Given the description of an element on the screen output the (x, y) to click on. 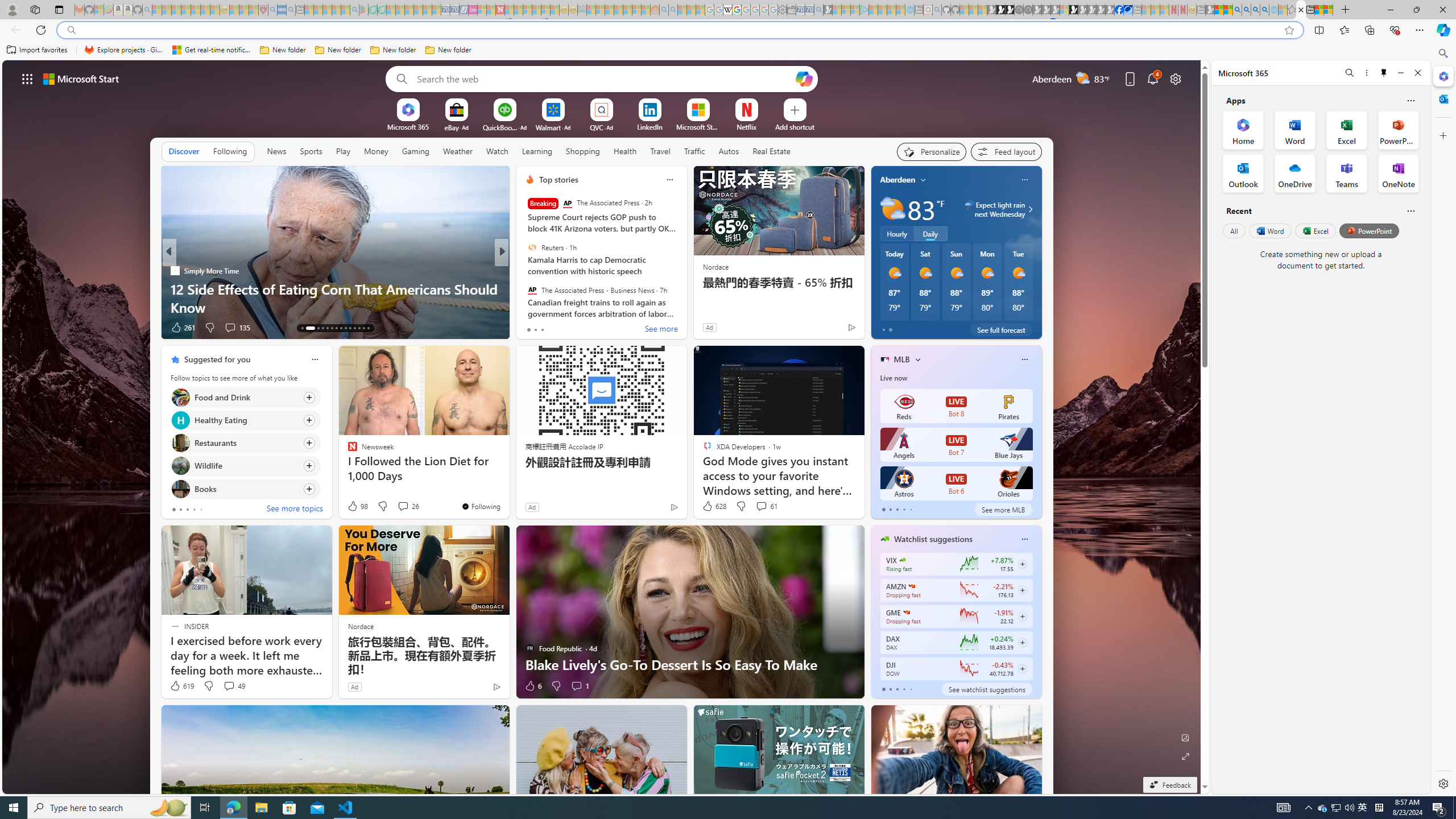
XDA Developers (524, 288)
Google Chrome Internet Browser Download - Search Images (1264, 9)
AutomationID: tab-23 (354, 328)
AutomationID: tab-16 (322, 328)
Dagens News (US) (524, 288)
Health Digest (174, 288)
